Given the description of an element on the screen output the (x, y) to click on. 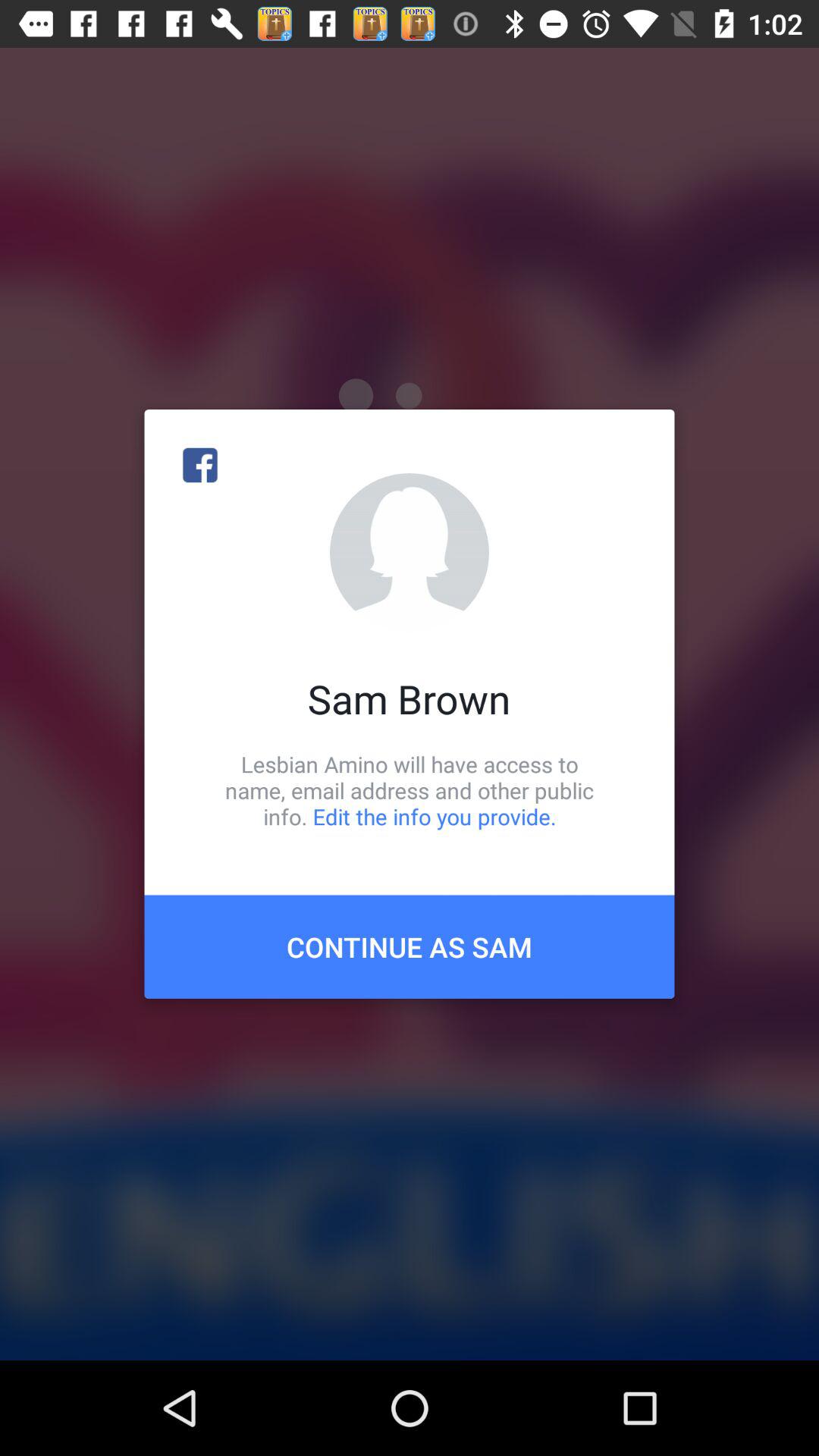
open the icon below the lesbian amino will icon (409, 946)
